Given the description of an element on the screen output the (x, y) to click on. 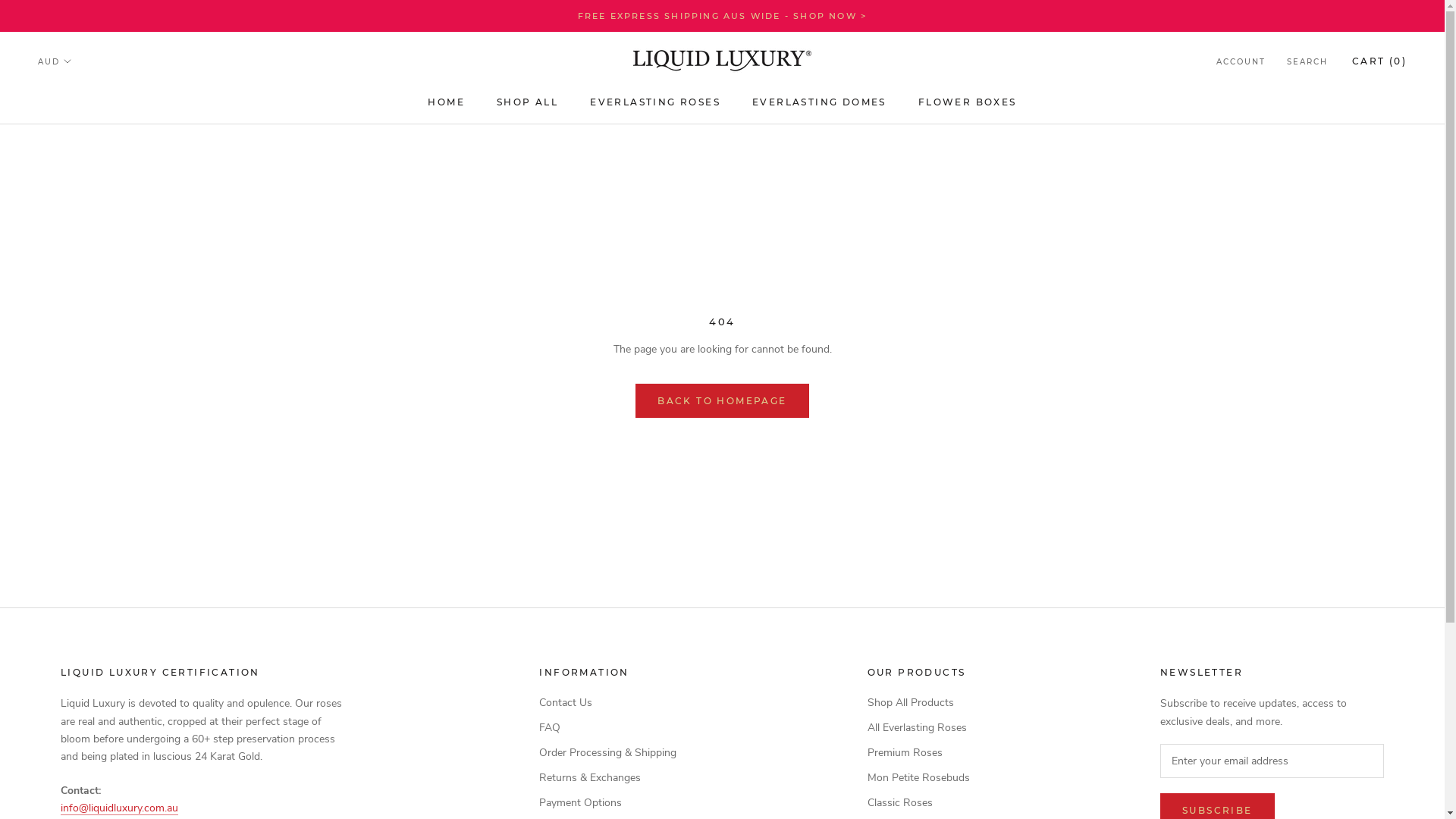
EVERLASTING ROSES
EVERLASTING ROSES Element type: text (654, 101)
Mon Petite Rosebuds Element type: text (918, 777)
Classic Roses Element type: text (918, 802)
BACK TO HOMEPAGE Element type: text (721, 400)
FREE EXPRESS SHIPPING AUS WIDE - SHOP NOW > Element type: text (722, 15)
Order Processing & Shipping Element type: text (607, 752)
HOME
HOME Element type: text (445, 101)
Payment Options Element type: text (607, 802)
FLOWER BOXES
FLOWER BOXES Element type: text (967, 101)
ACCOUNT Element type: text (1240, 62)
SHOP ALL
SHOP ALL Element type: text (527, 101)
info@liquidluxury.com.au Element type: text (119, 807)
Returns & Exchanges Element type: text (607, 777)
CART (0) Element type: text (1379, 60)
SEARCH Element type: text (1306, 62)
All Everlasting Roses Element type: text (918, 727)
Premium Roses Element type: text (918, 752)
EVERLASTING DOMES
EVERLASTING DOMES Element type: text (819, 101)
Contact Us Element type: text (607, 702)
Shop All Products Element type: text (918, 702)
FAQ Element type: text (607, 727)
